Given the description of an element on the screen output the (x, y) to click on. 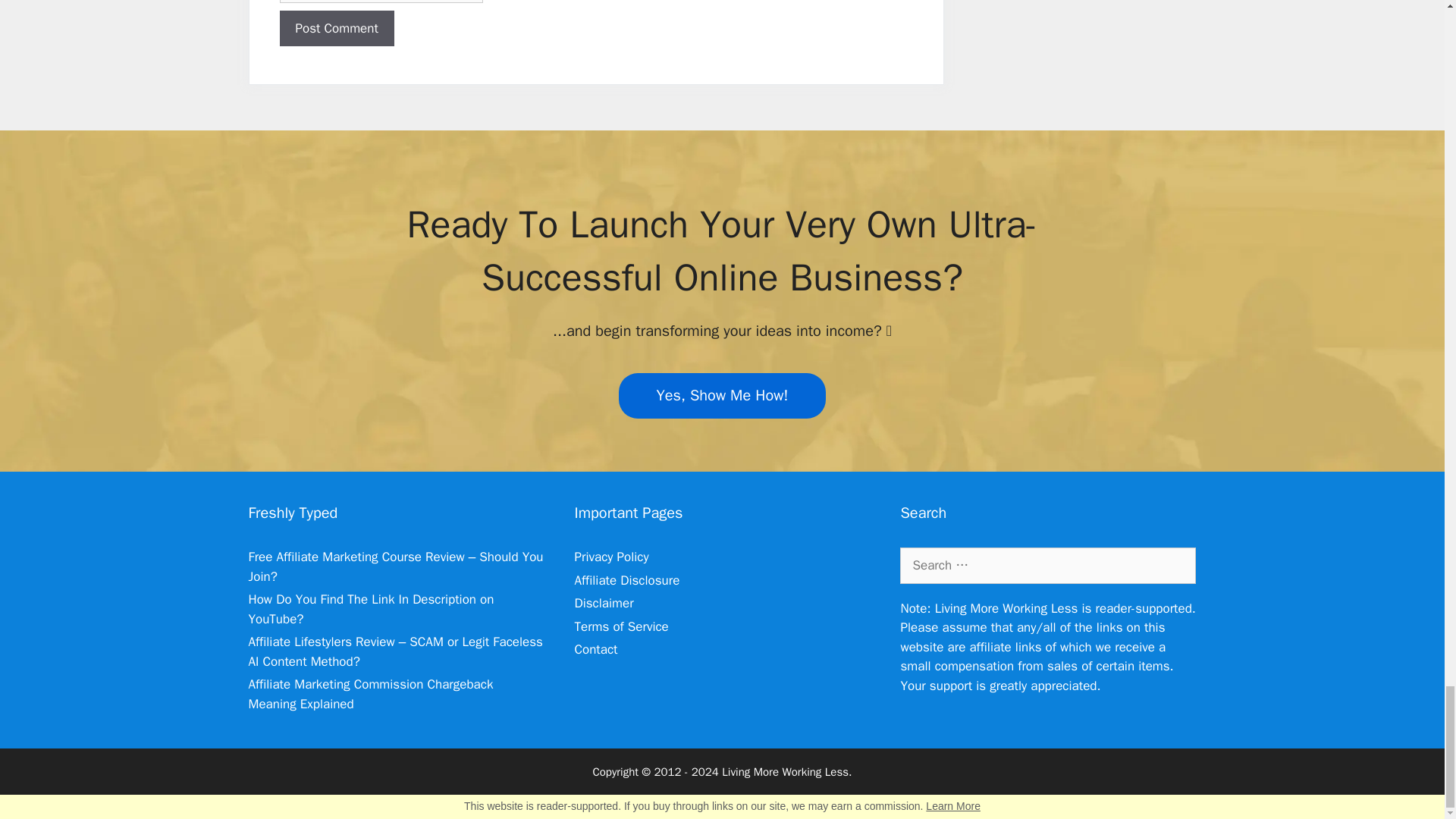
Affiliate Marketing Commission Chargeback Meaning Explained (370, 693)
How Do You Find The Link In Description on YouTube? (371, 609)
Post Comment (336, 28)
Post Comment (336, 28)
Search for: (1047, 565)
Privacy Policy (610, 556)
Yes, Show Me How! (722, 395)
